Given the description of an element on the screen output the (x, y) to click on. 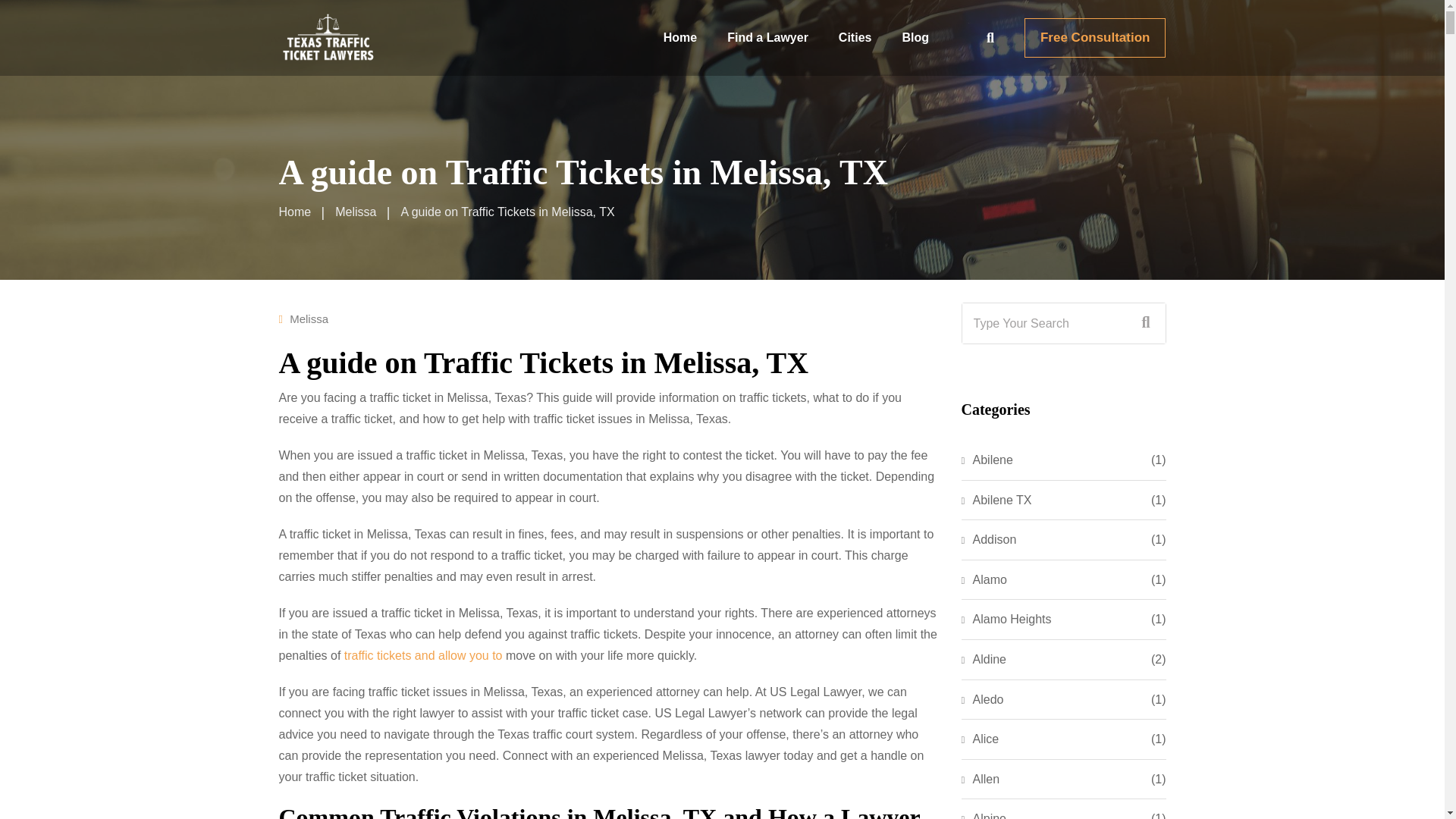
Alice (979, 739)
traffic tickets and allow you to (422, 655)
Alamo Heights (1005, 619)
Addison (988, 539)
Find a Lawyer (767, 38)
Melissa (354, 211)
Alpine (983, 814)
Alamo (983, 579)
Abilene (986, 460)
Free Consultation (1095, 37)
Allen (980, 779)
Melissa (309, 318)
Aledo (982, 700)
Aldine (983, 659)
Abilene TX (996, 500)
